Given the description of an element on the screen output the (x, y) to click on. 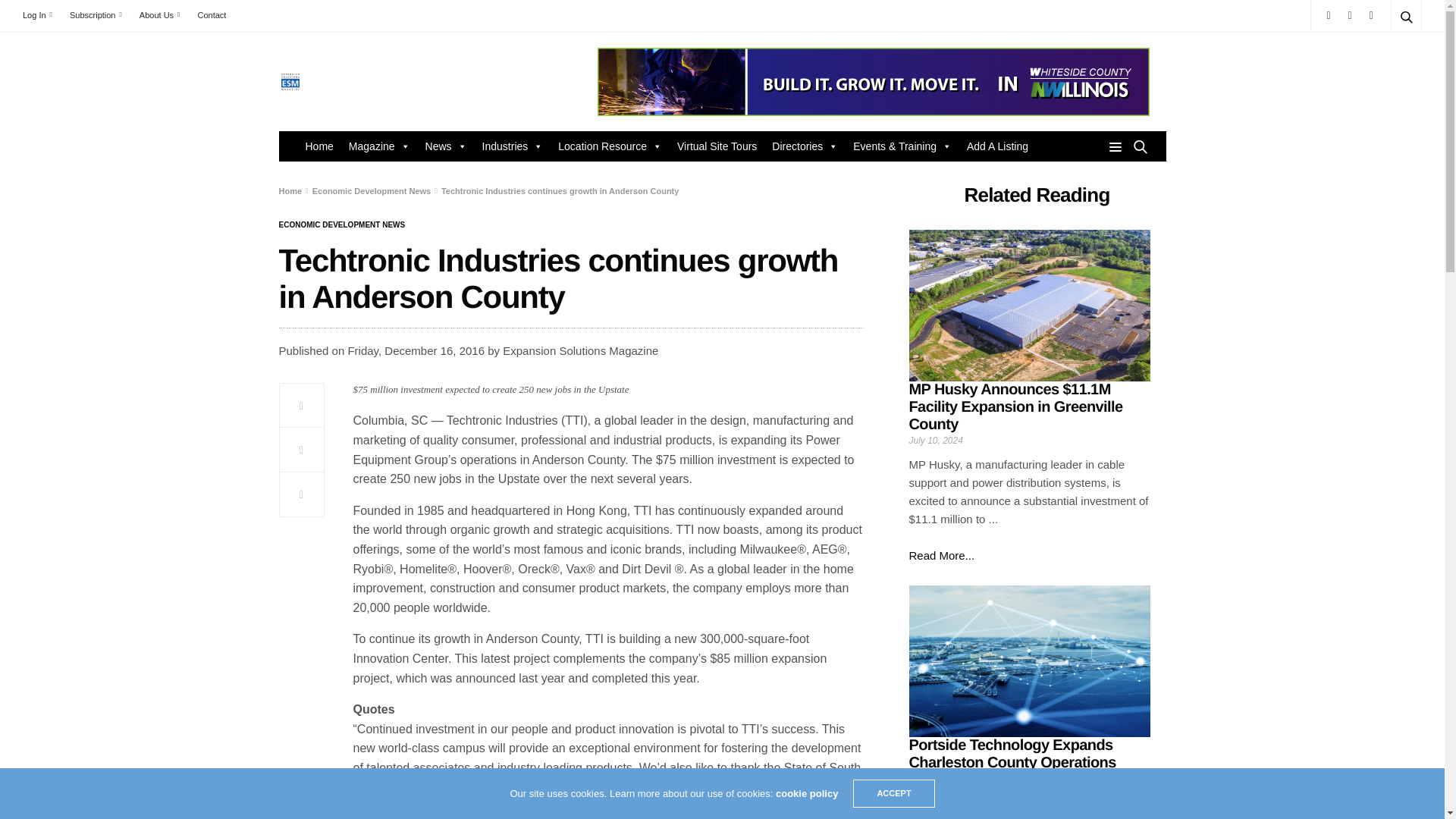
Economic Development News (342, 225)
Subscription (95, 15)
Search (1386, 53)
Contact (210, 15)
Log In (41, 15)
News (445, 146)
Magazine (378, 146)
Home (318, 146)
About Us (159, 15)
